Given the description of an element on the screen output the (x, y) to click on. 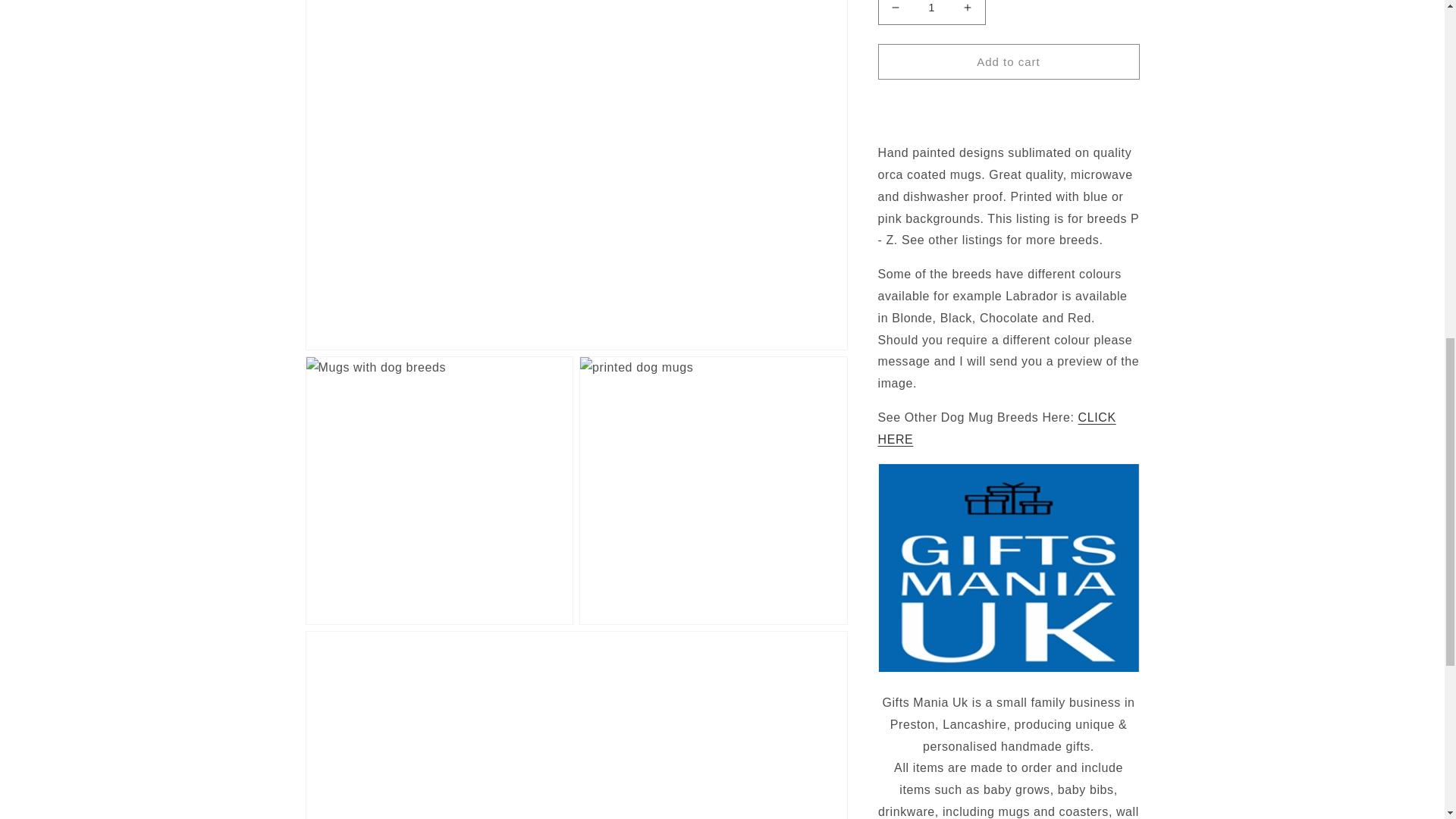
doggie mug collection (996, 409)
